Given the description of an element on the screen output the (x, y) to click on. 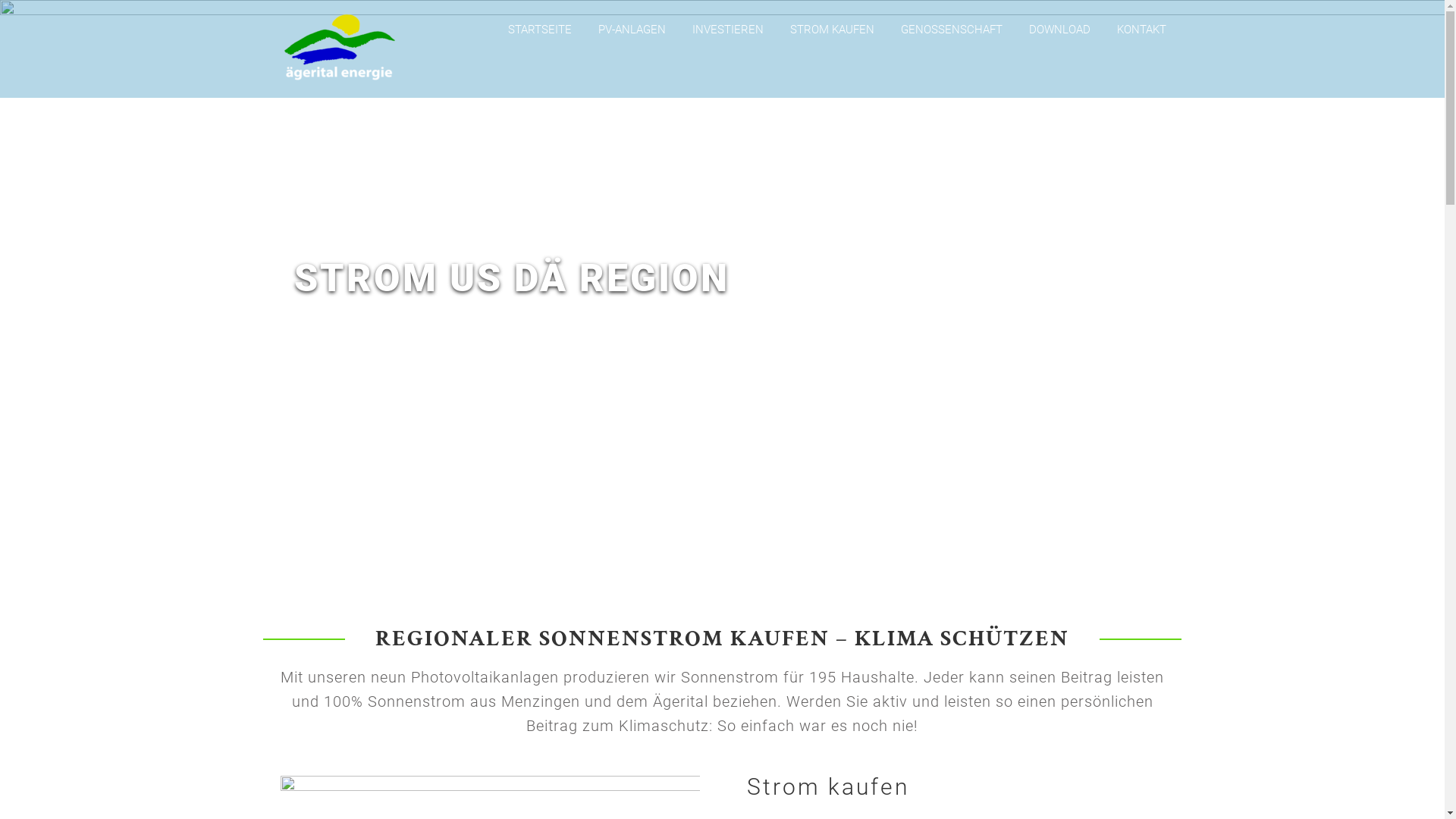
STROM KAUFEN Element type: text (832, 29)
GENOSSENSCHAFT Element type: text (951, 29)
Strom kaufen Element type: text (827, 786)
STARTSEITE Element type: text (539, 29)
PV-ANLAGEN Element type: text (631, 29)
DOWNLOAD Element type: text (1058, 29)
KONTAKT Element type: text (1140, 29)
INVESTIEREN Element type: text (726, 29)
